Given the description of an element on the screen output the (x, y) to click on. 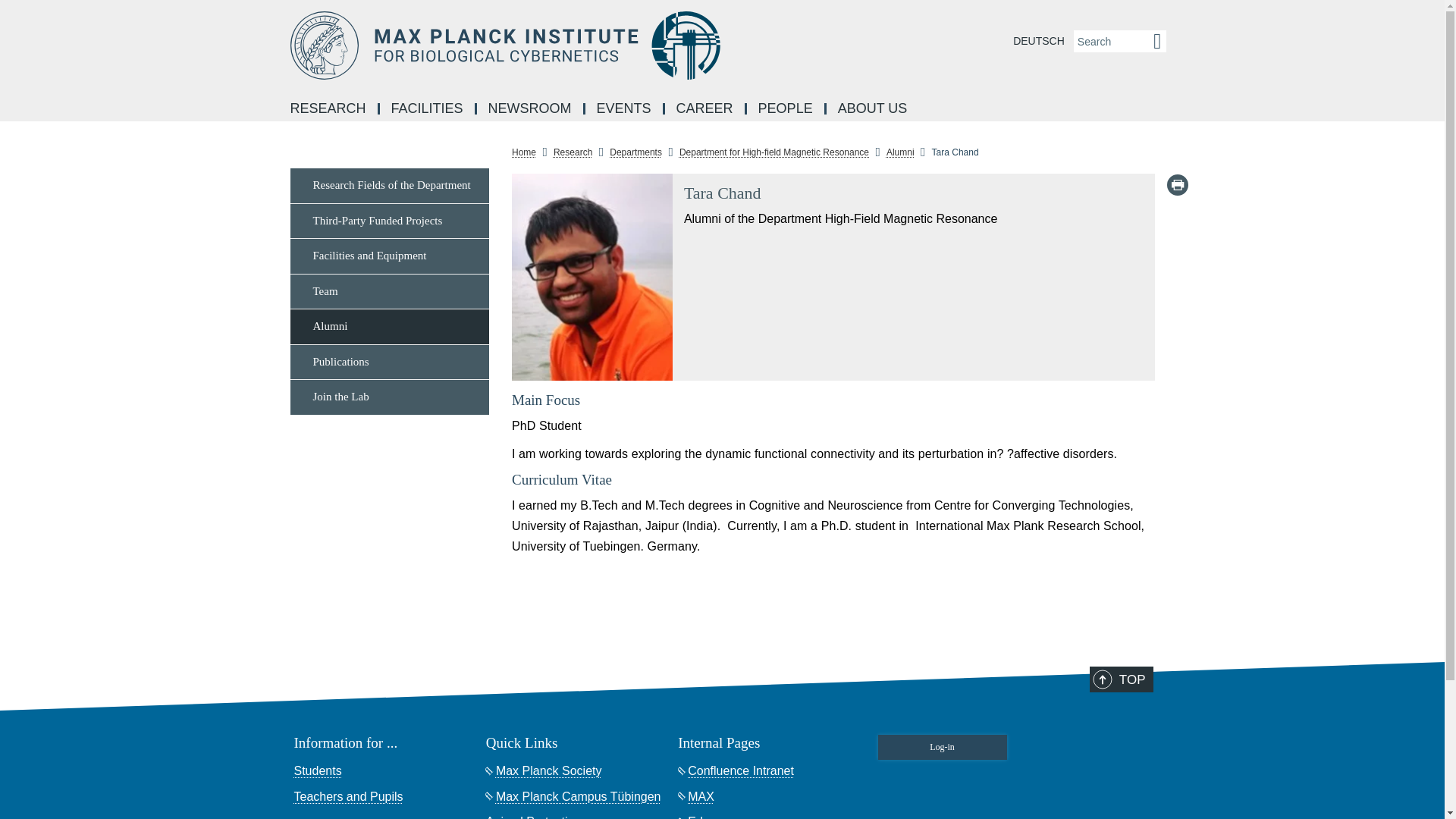
NEWSROOM (531, 108)
EVENTS (625, 108)
FACILITIES (428, 108)
DEUTSCH (1038, 41)
RESEARCH (329, 108)
CAREER (705, 108)
Print (1177, 184)
